Given the description of an element on the screen output the (x, y) to click on. 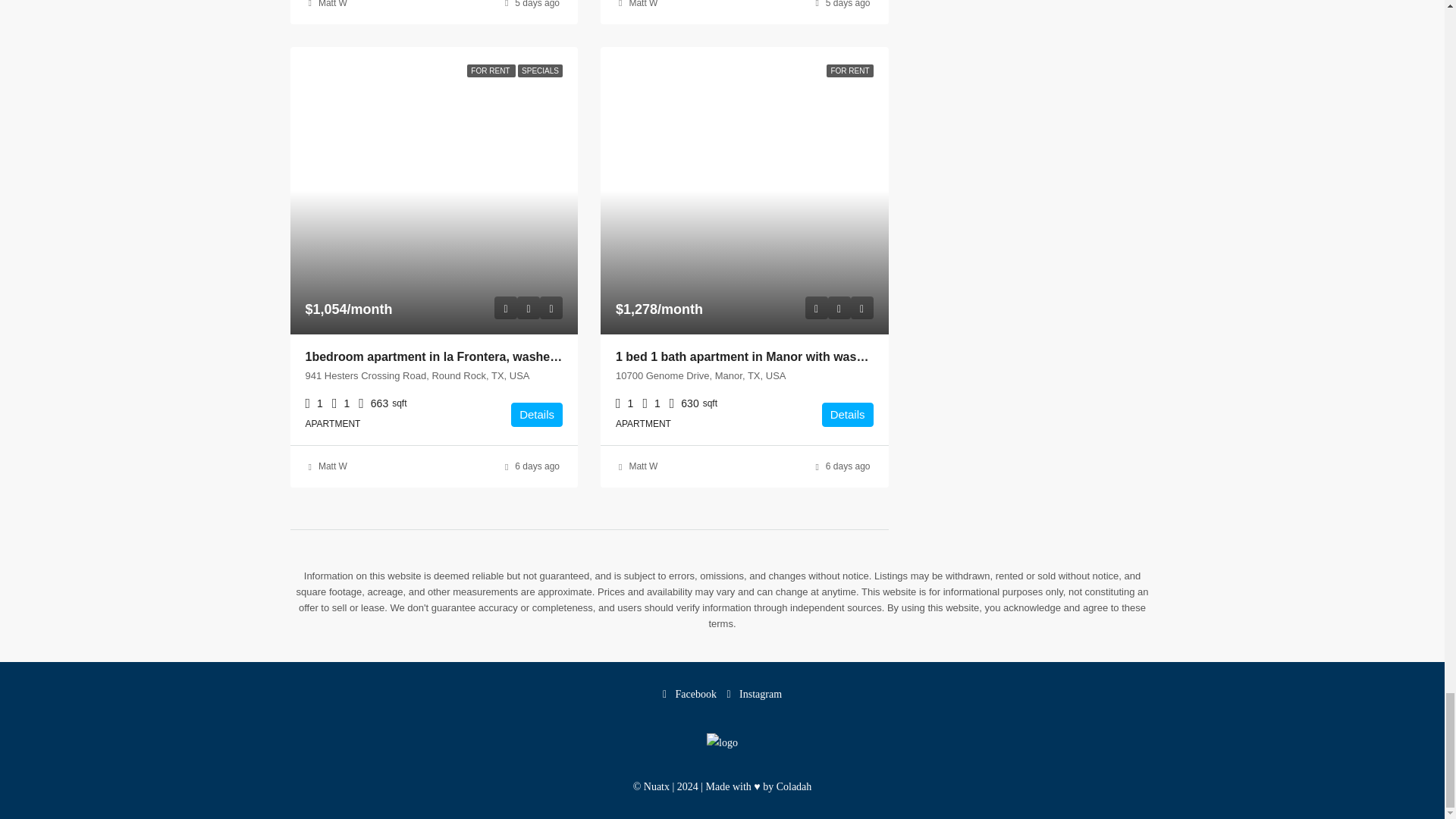
Favourite (528, 307)
Add to Compare (551, 307)
Preview (816, 307)
Preview (505, 307)
